Given the description of an element on the screen output the (x, y) to click on. 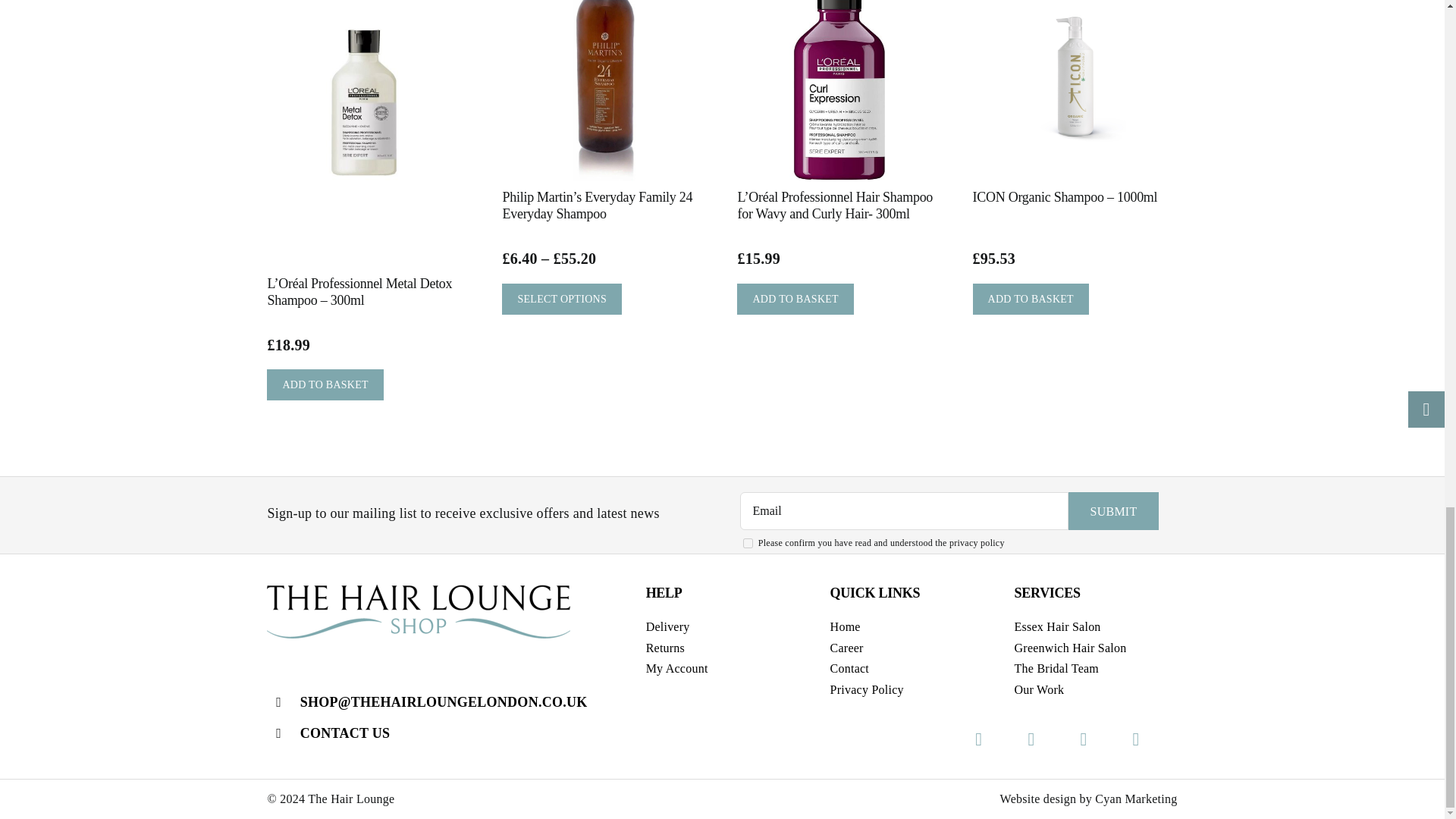
1 (747, 542)
Submit (1113, 510)
